Given the description of an element on the screen output the (x, y) to click on. 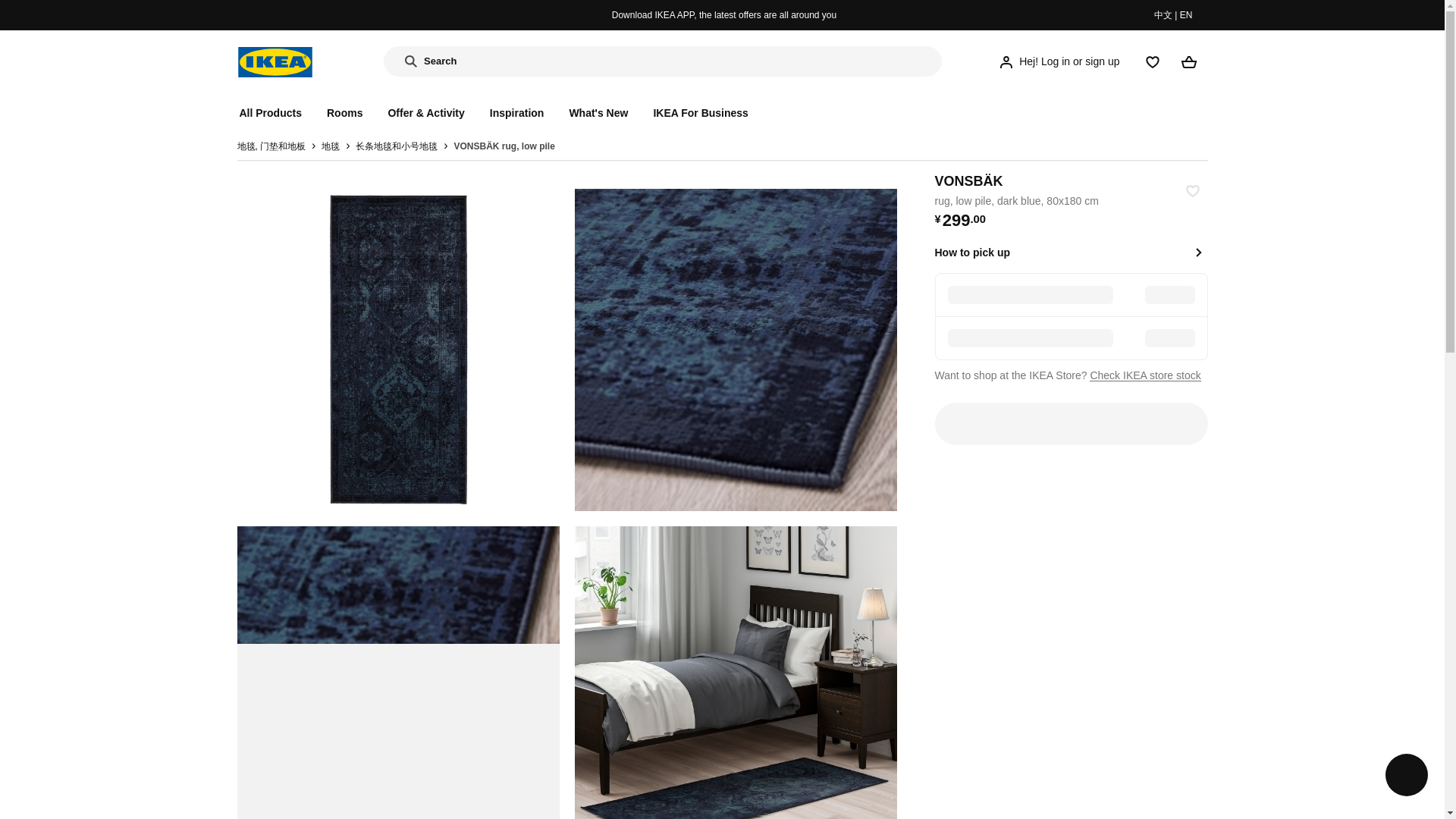
Check IKEA store stock (1144, 374)
Download IKEA APP, the latest offers are all around you (723, 15)
